Given the description of an element on the screen output the (x, y) to click on. 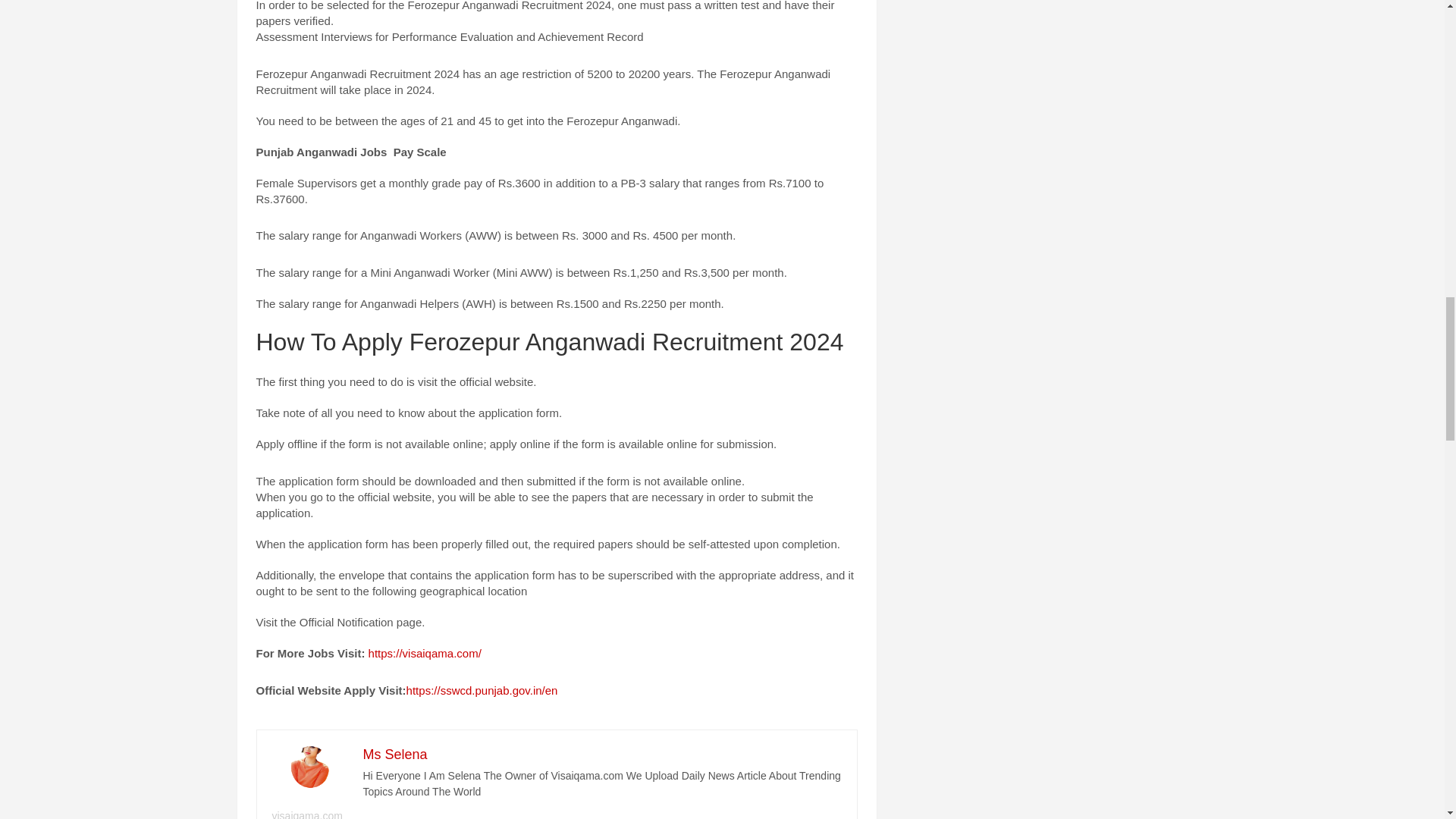
visaiqama.com (306, 814)
Ms Selena (394, 754)
